Given the description of an element on the screen output the (x, y) to click on. 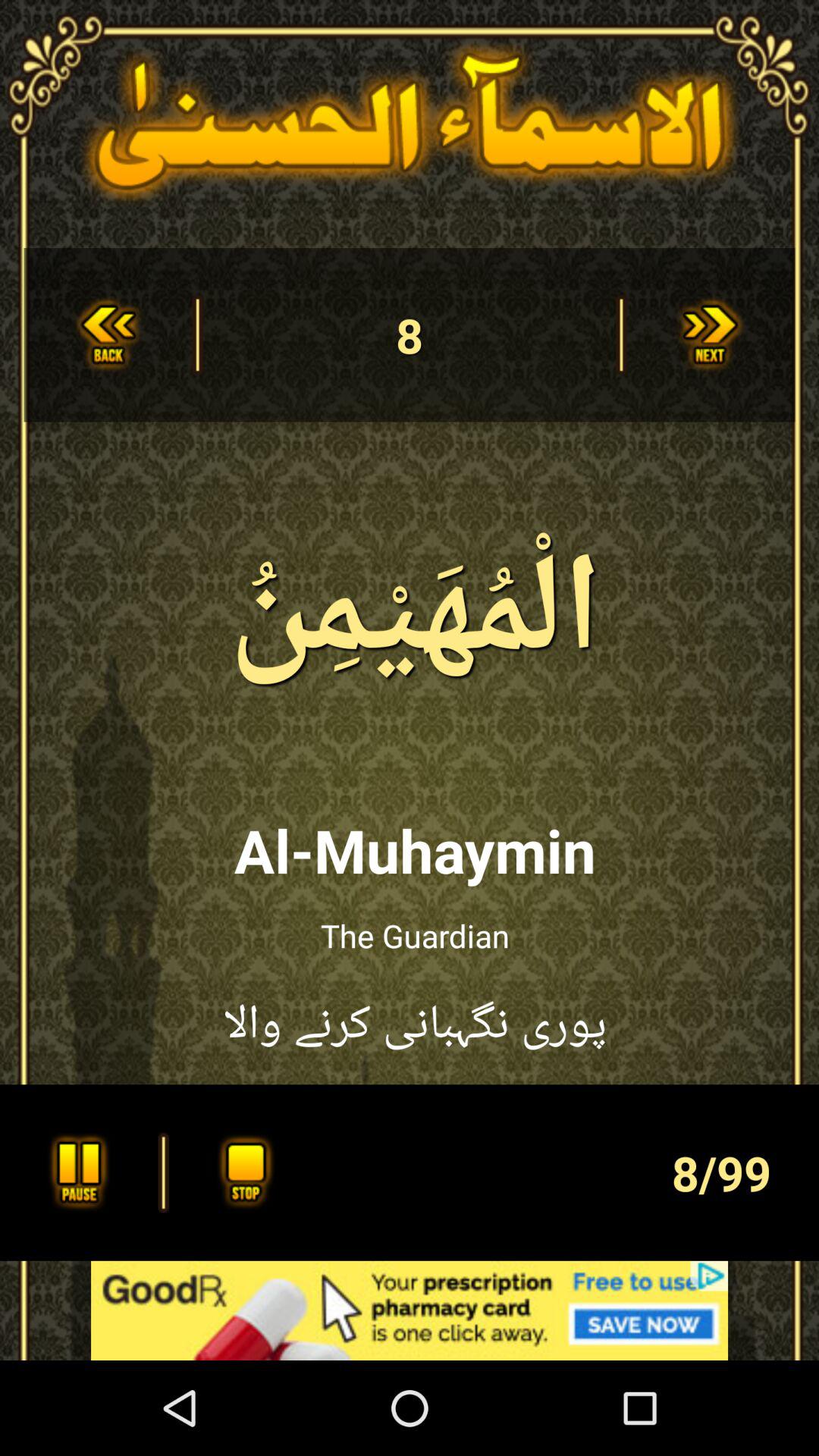
go to back (107, 334)
